Given the description of an element on the screen output the (x, y) to click on. 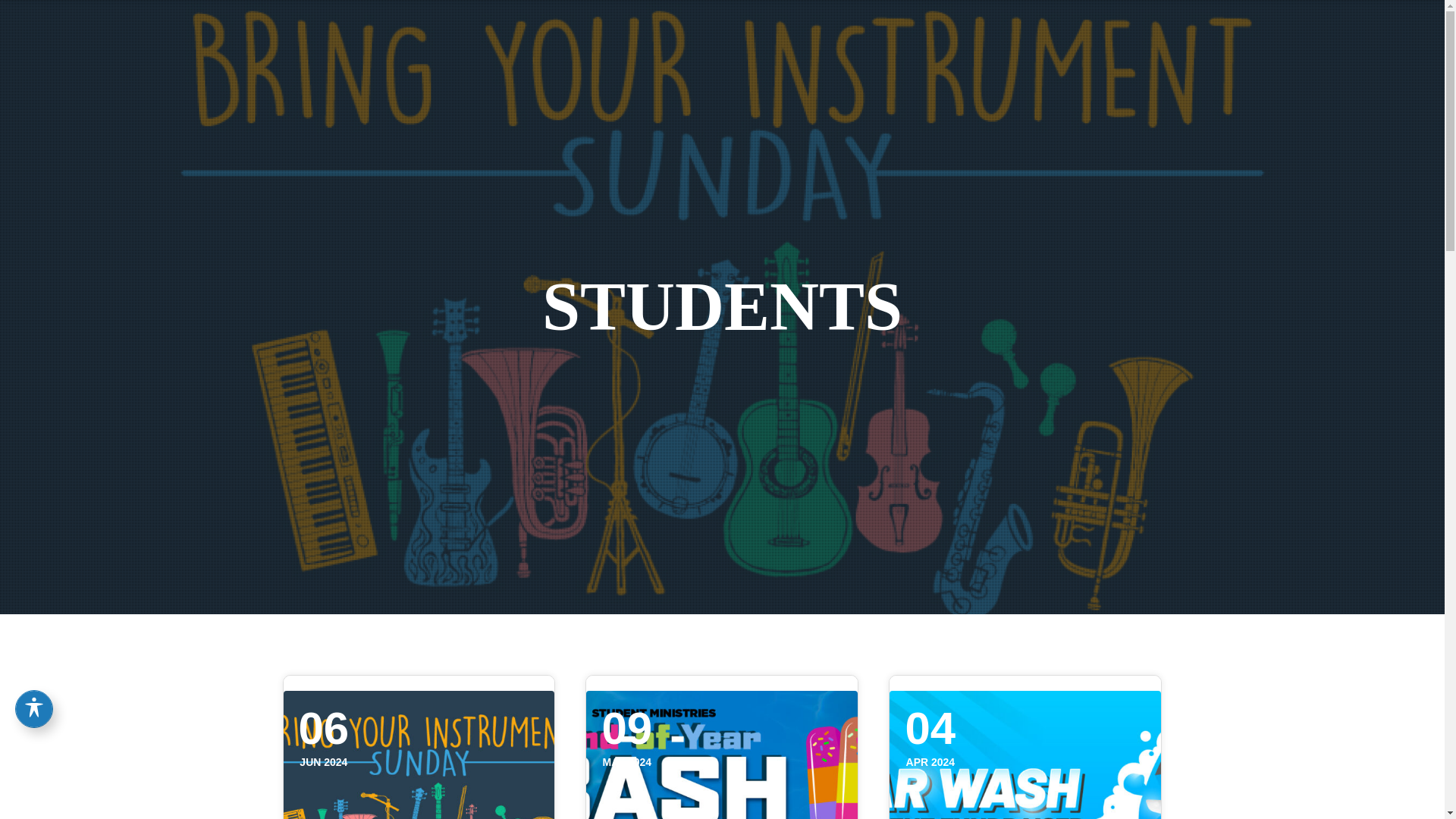
Permanent Link to Bring Your Instrument Sunday (418, 755)
Permanent Link to End-of-Year Bash (721, 755)
Permanent Link to Car Wash Fundraiser (1024, 755)
